Given the description of an element on the screen output the (x, y) to click on. 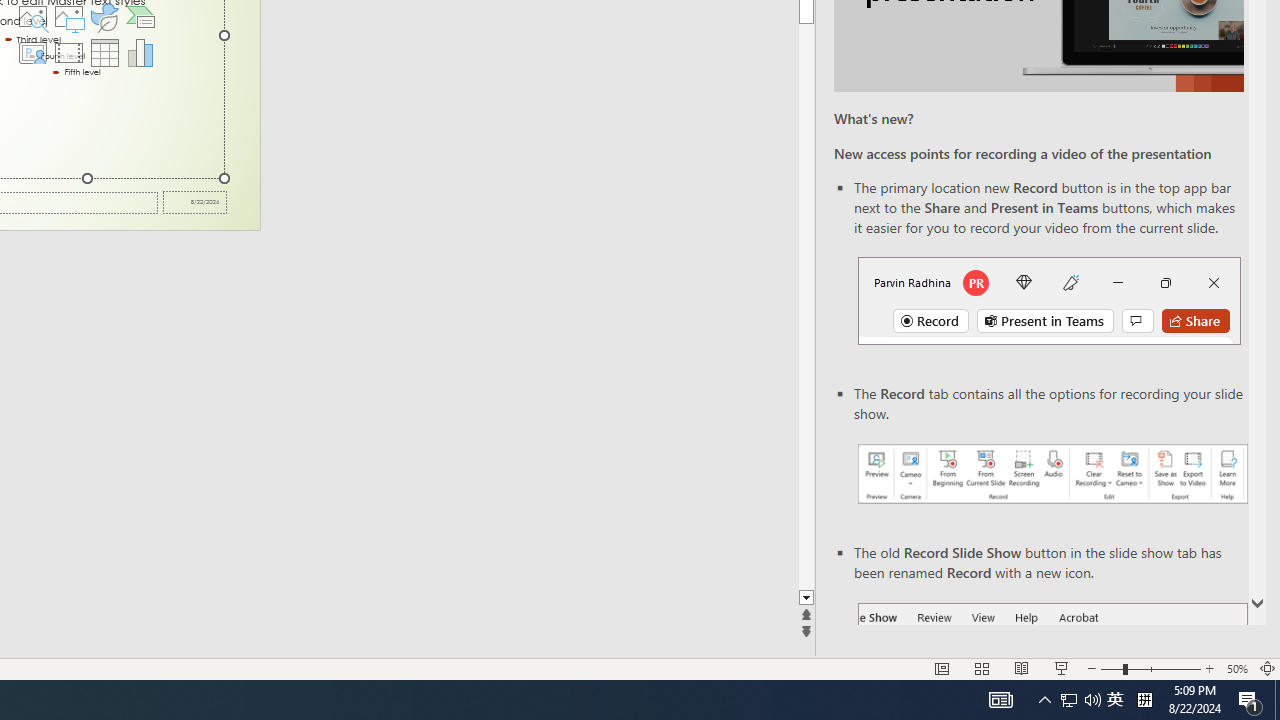
Insert Table (105, 52)
Zoom 50% (1236, 668)
Insert an Icon (105, 16)
Record your presentations screenshot one (1052, 473)
Insert Chart (141, 52)
Stock Images (32, 16)
Pictures (68, 16)
Date (194, 201)
Record button in top bar (1049, 300)
